Given the description of an element on the screen output the (x, y) to click on. 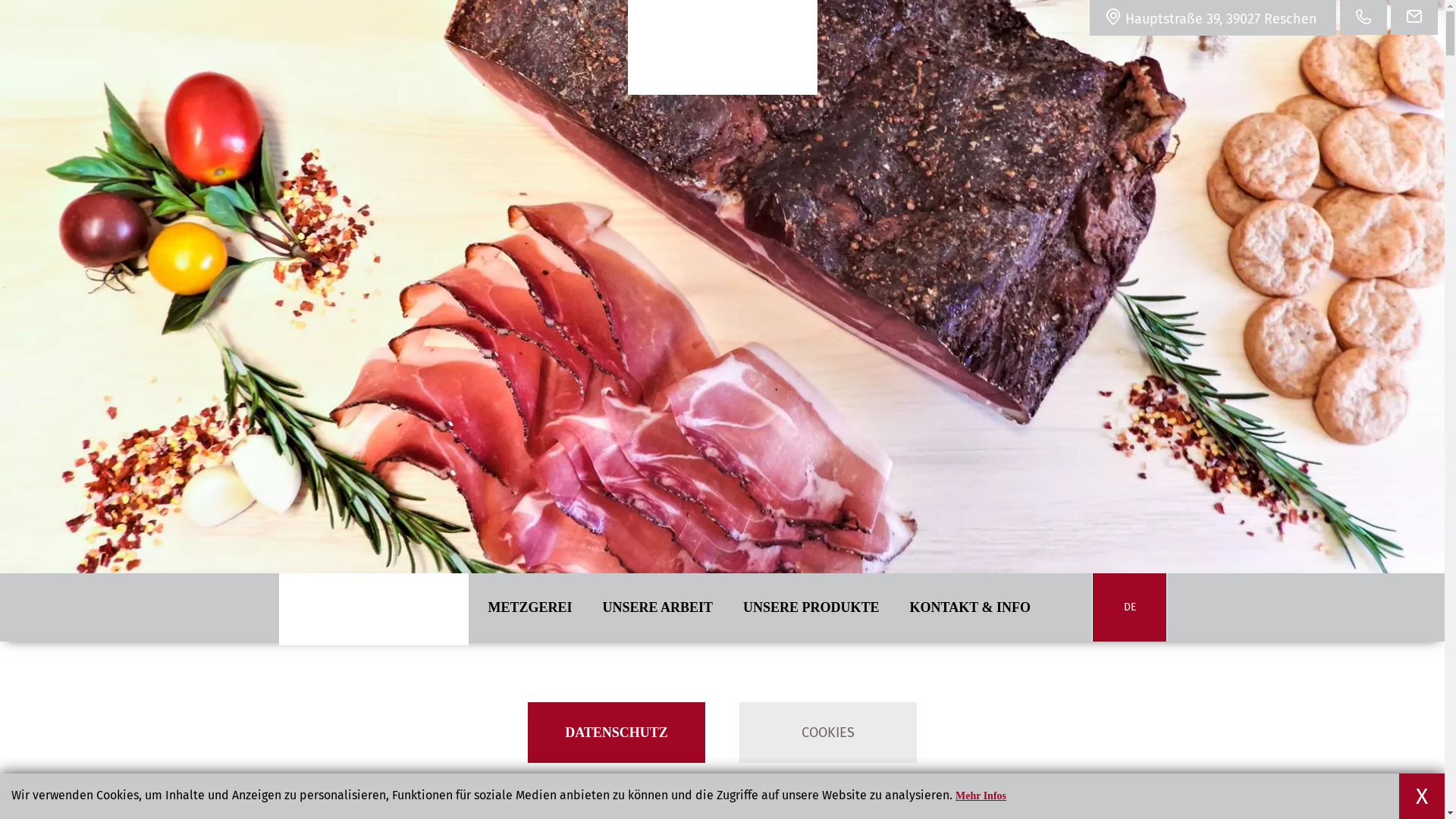
DE Element type: text (1129, 606)
METZGEREI Element type: text (530, 607)
UNSERE PRODUKTE Element type: text (811, 607)
UNSERE ARBEIT Element type: text (657, 607)
KONTAKT & INFO Element type: text (969, 607)
  Element type: text (373, 681)
  Element type: text (722, 47)
Mehr Infos Element type: text (980, 795)
metzgerei-folie-reschen Element type: hover (722, 286)
